Given the description of an element on the screen output the (x, y) to click on. 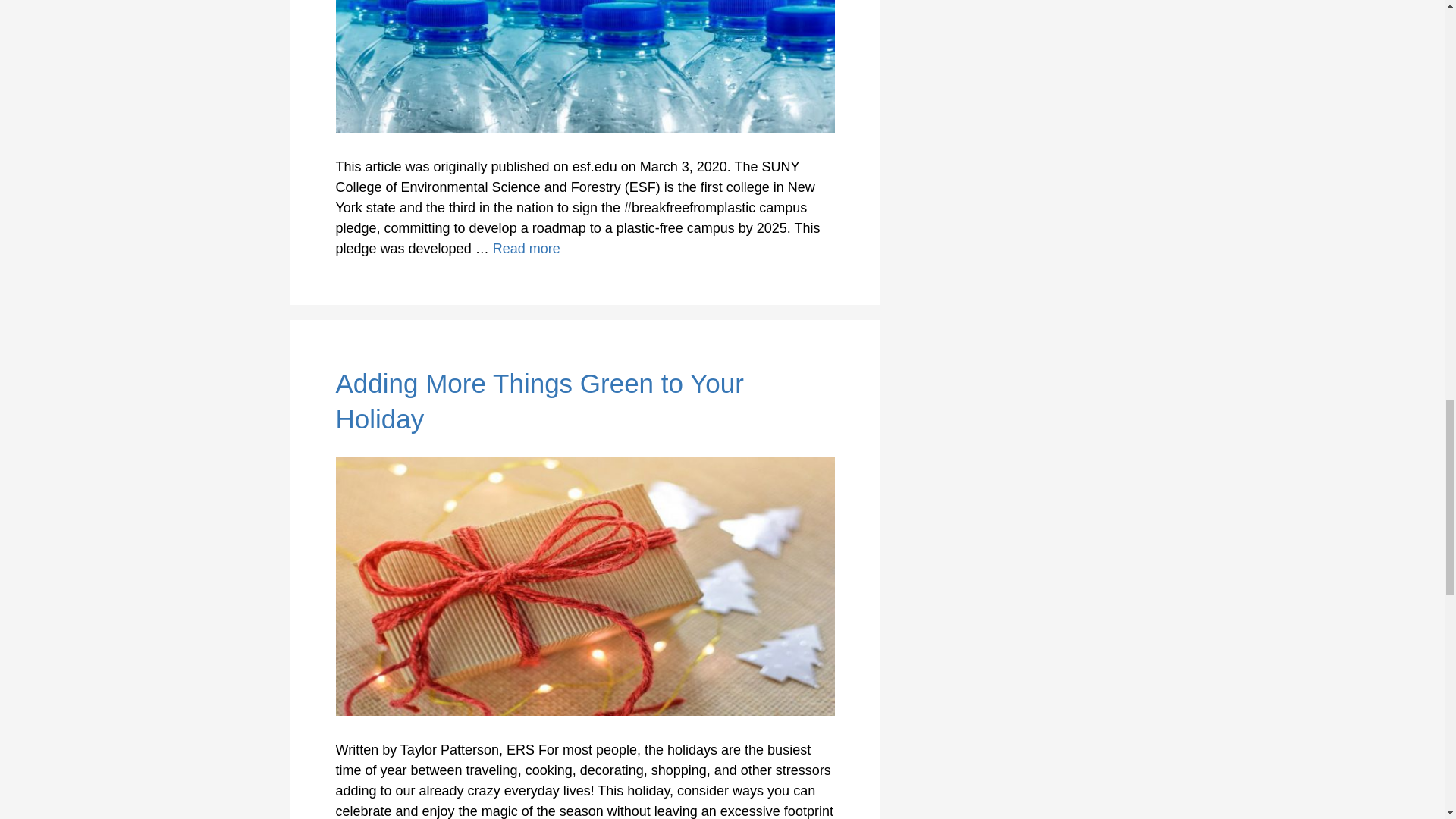
Read more (526, 248)
